Given the description of an element on the screen output the (x, y) to click on. 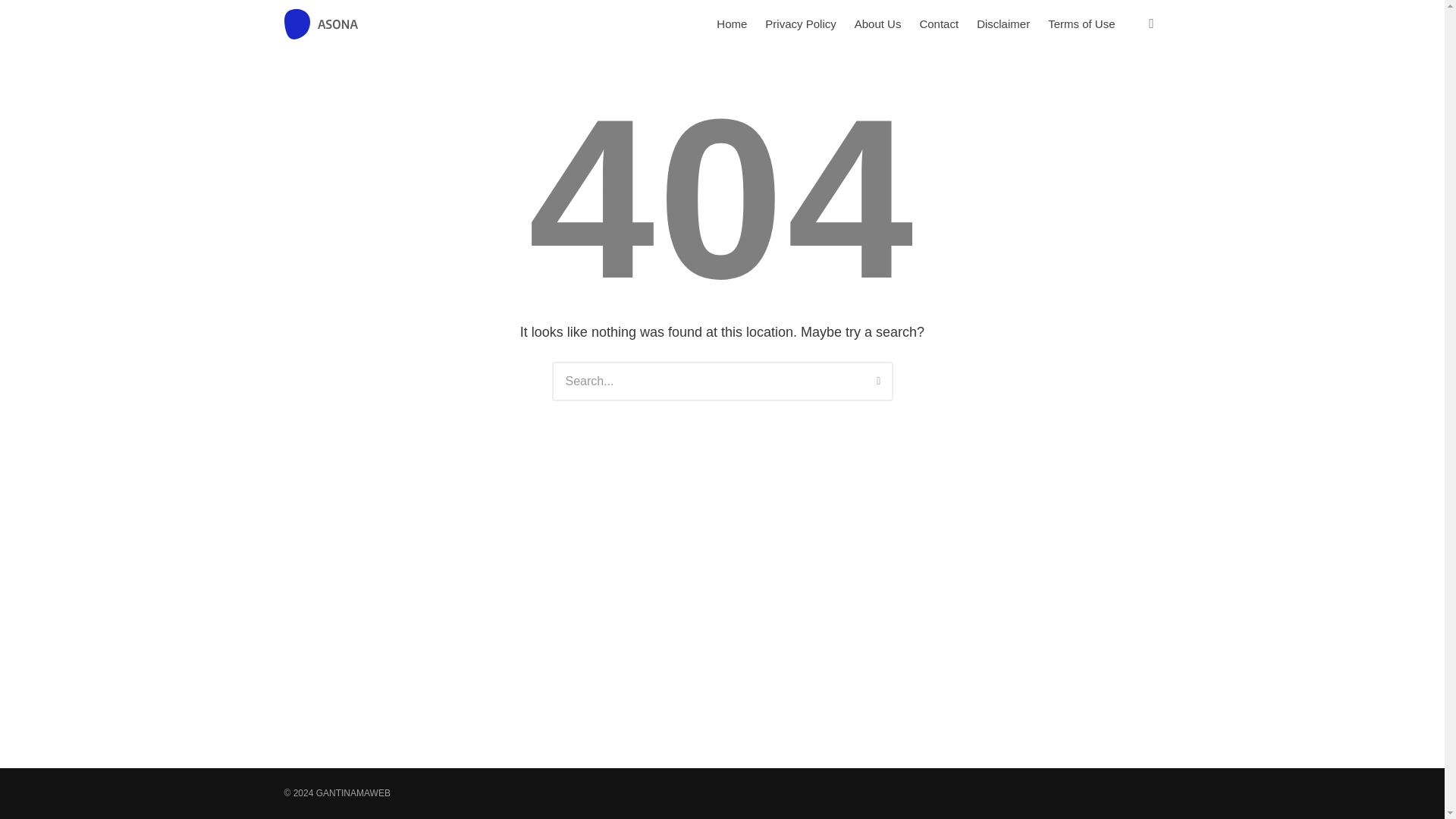
Privacy Policy (799, 24)
Home (731, 24)
About Us (878, 24)
Disclaimer (1003, 24)
Terms of Use (1081, 24)
Contact (939, 24)
